Given the description of an element on the screen output the (x, y) to click on. 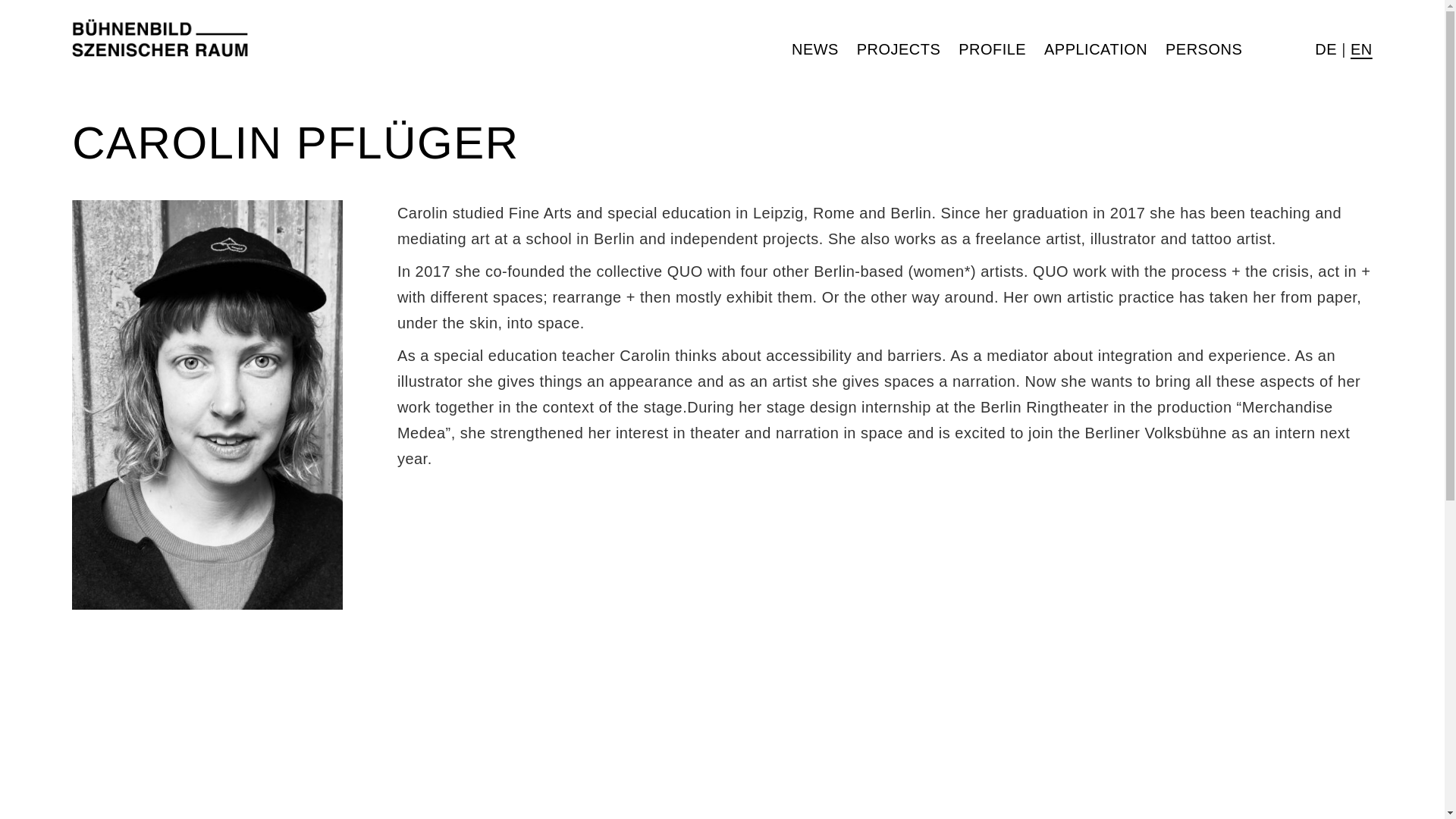
DE (1325, 48)
EN (1362, 48)
Projects (898, 48)
PROJECTS (898, 48)
Profile (992, 48)
News (815, 48)
NEWS (819, 48)
NEWS (815, 48)
Application (1095, 48)
PERSONS (1203, 48)
Persons (1203, 48)
PROFILE (992, 48)
APPLICATION (1095, 48)
